Given the description of an element on the screen output the (x, y) to click on. 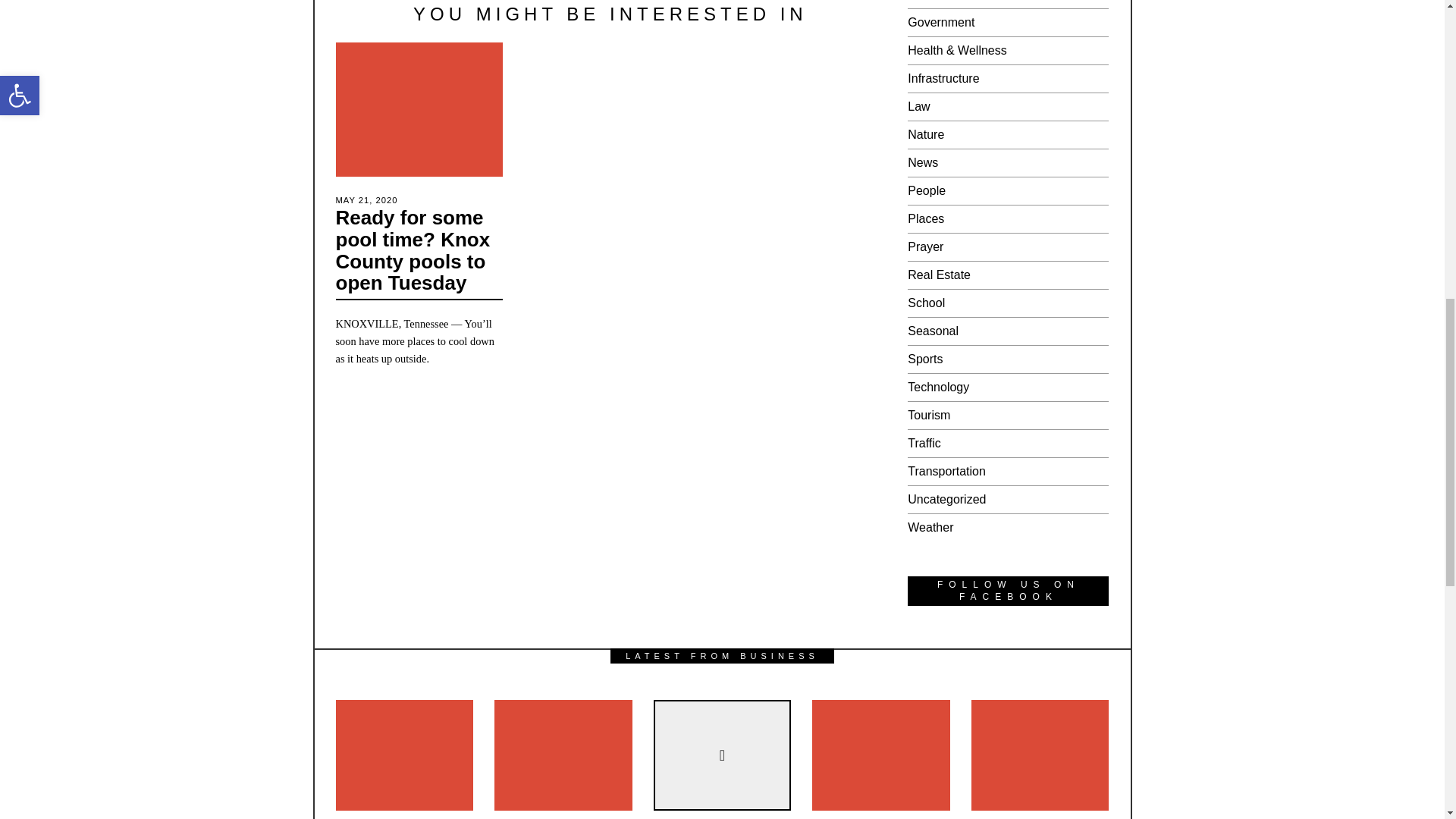
Ready for some pool time? Knox County pools to open Tuesday (411, 250)
